Given the description of an element on the screen output the (x, y) to click on. 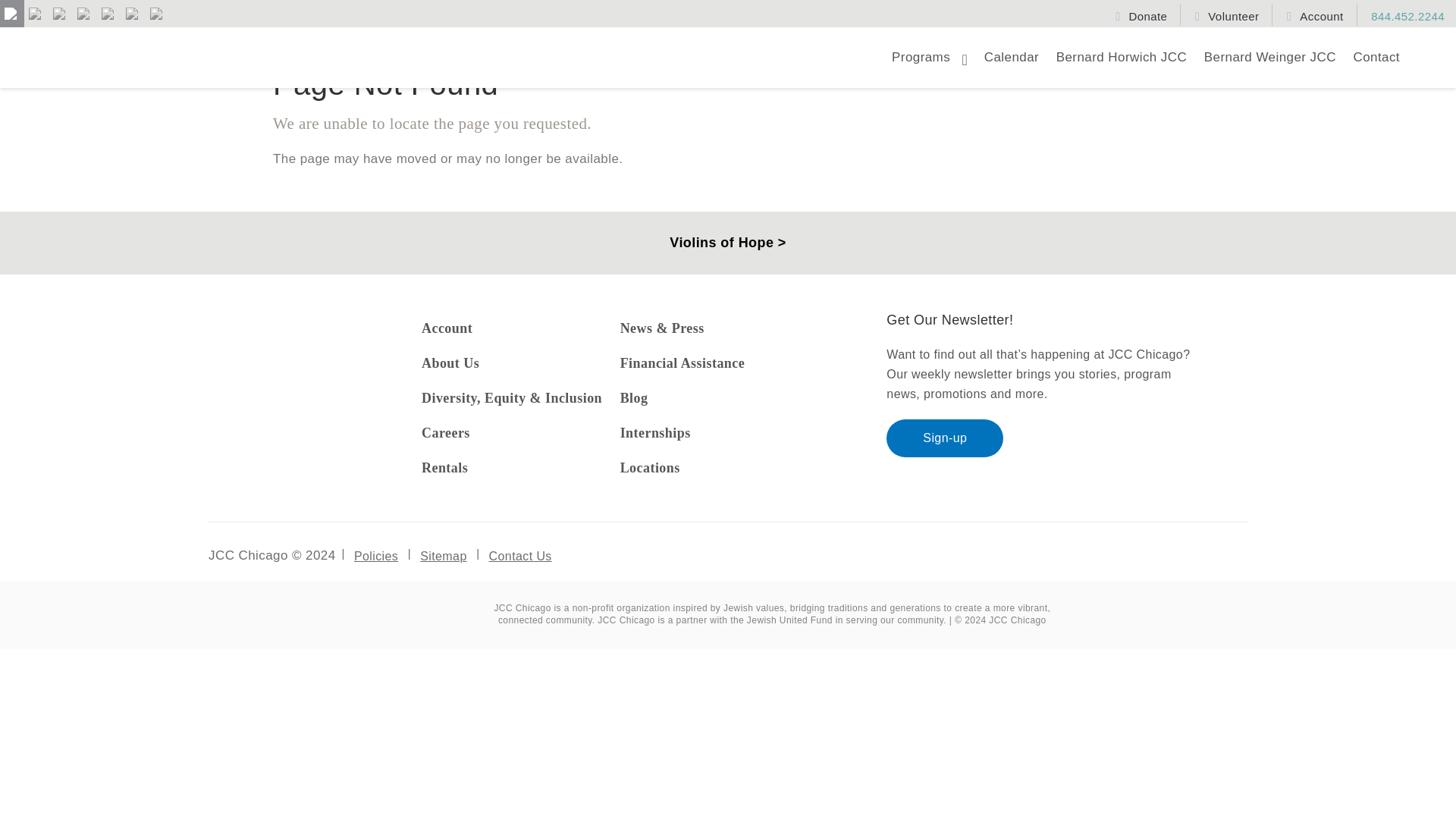
Programs (928, 63)
844.452.2244 (1401, 14)
Donate (1142, 14)
Account (1316, 14)
Skip to Main Content (84, 24)
Volunteer (1228, 14)
